Given the description of an element on the screen output the (x, y) to click on. 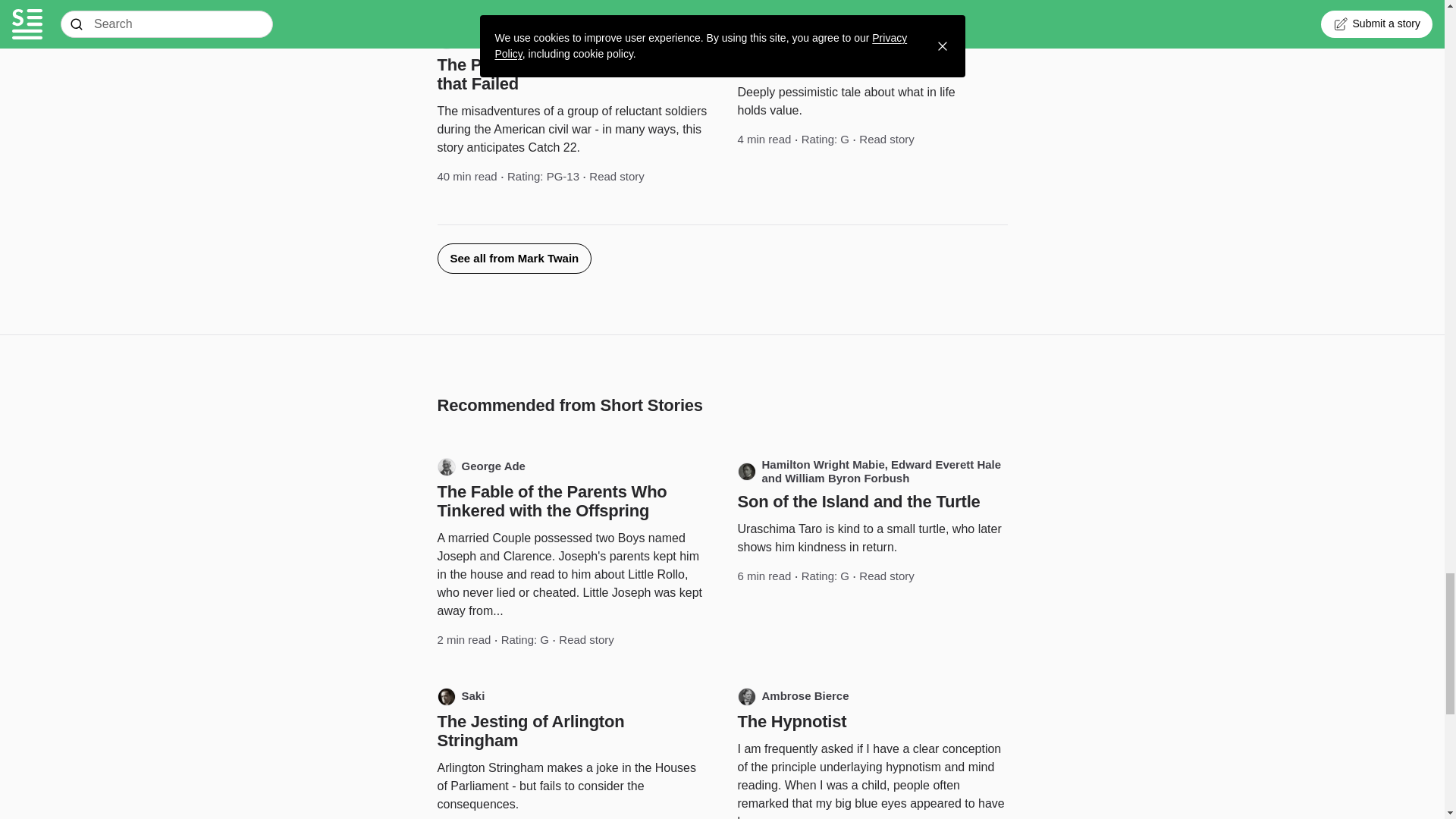
The Fable of the Parents Who Tinkered with the Offspring (551, 501)
Find stories around 40 mins long (466, 176)
40 min read (466, 176)
Mark Twain (479, 40)
The Private History of a Campaign that Failed (569, 74)
Mark Twain (779, 40)
4 min read (763, 139)
Read story (617, 176)
The Five Boons Of Life (825, 64)
Son of the Island and the Turtle (857, 501)
Read story (886, 139)
Find stories around 4 mins long (763, 139)
George Ade (480, 466)
See all from Mark Twain (513, 258)
2 min read (463, 640)
